Given the description of an element on the screen output the (x, y) to click on. 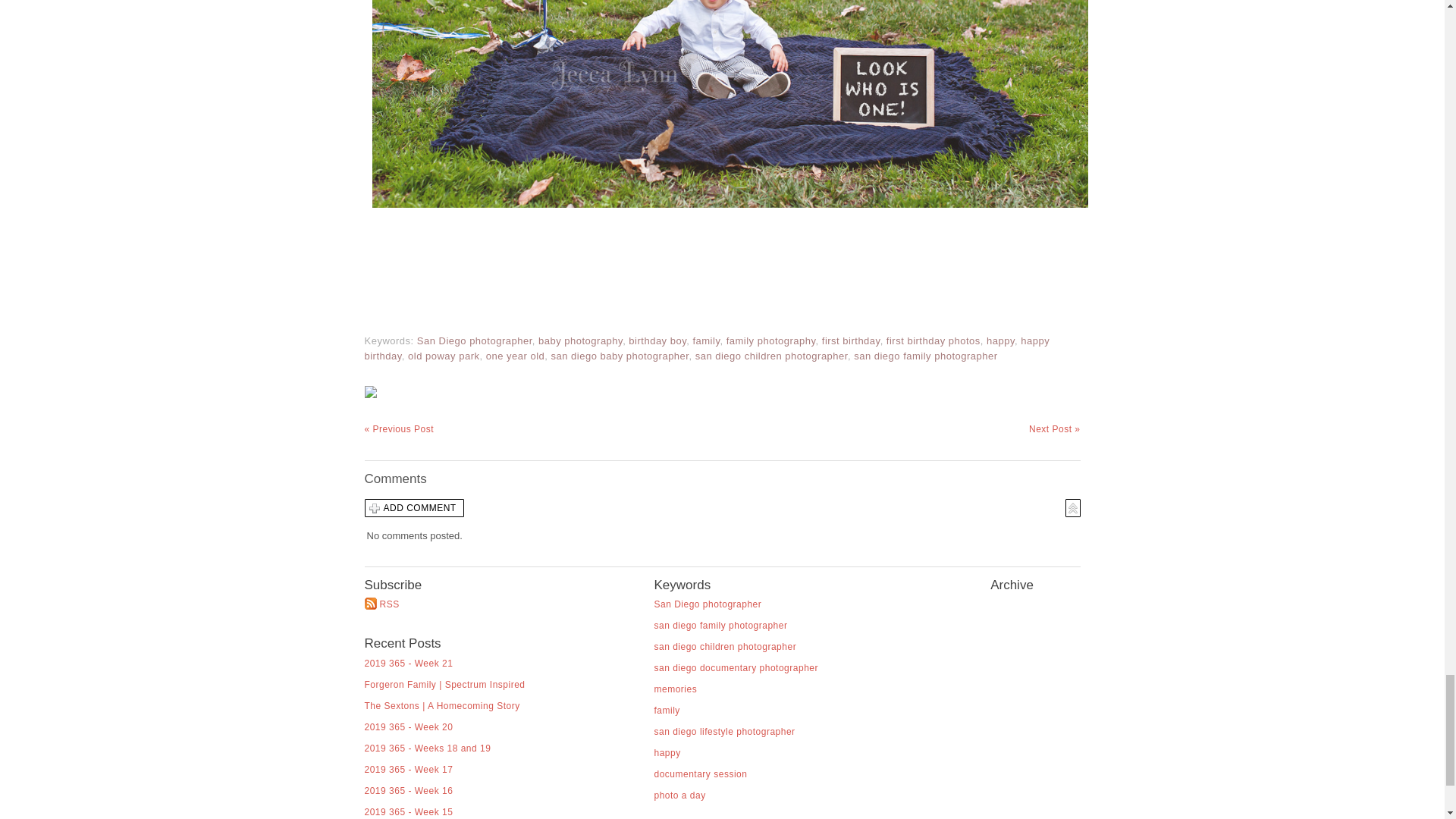
San Diego photographer (474, 340)
family (706, 340)
old poway park (443, 355)
one year old (515, 355)
birthday boy (656, 340)
family photography (770, 340)
first birthday photos (932, 340)
happy birthday (706, 347)
san diego family photographer (925, 355)
san diego baby photographer (619, 355)
san diego children photographer (771, 355)
first birthday (851, 340)
baby photography (580, 340)
happy (1000, 340)
